Given the description of an element on the screen output the (x, y) to click on. 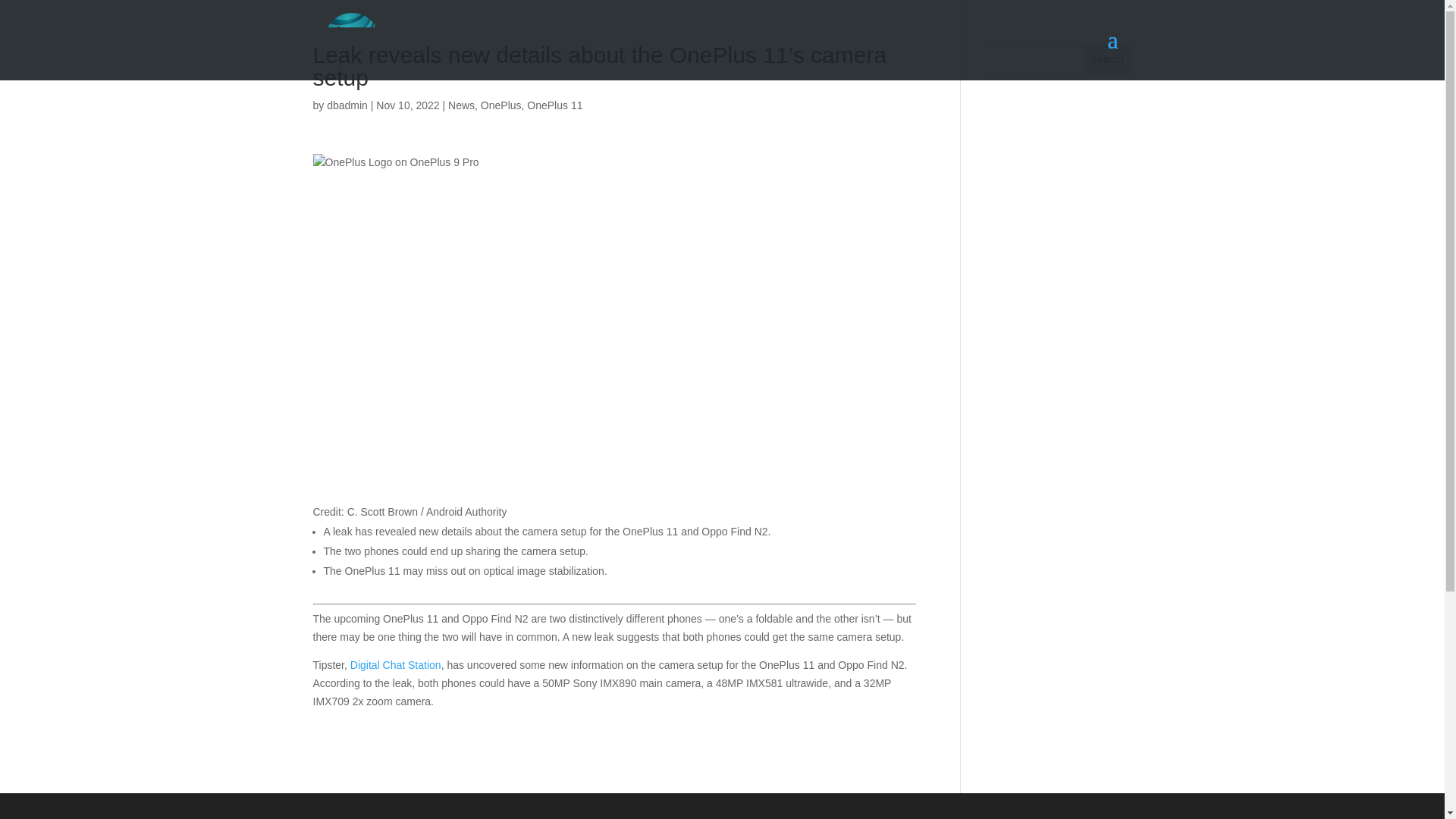
Posts by dbadmin (347, 105)
Search (1106, 59)
Search (1106, 59)
Digital Chat Station (395, 664)
dbadmin (347, 105)
OnePlus (500, 105)
News (461, 105)
OnePlus 11 (554, 105)
